Given the description of an element on the screen output the (x, y) to click on. 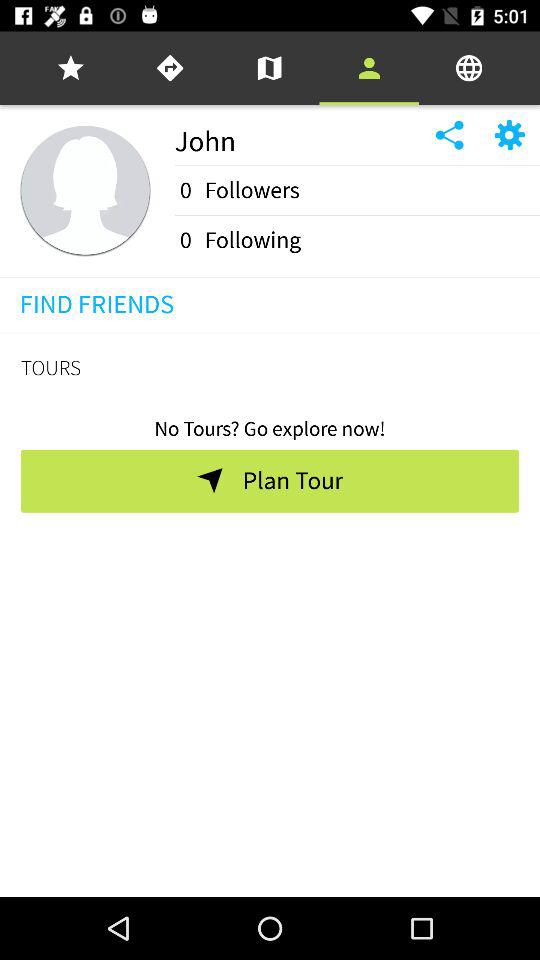
scroll to the plan tour item (292, 481)
